Given the description of an element on the screen output the (x, y) to click on. 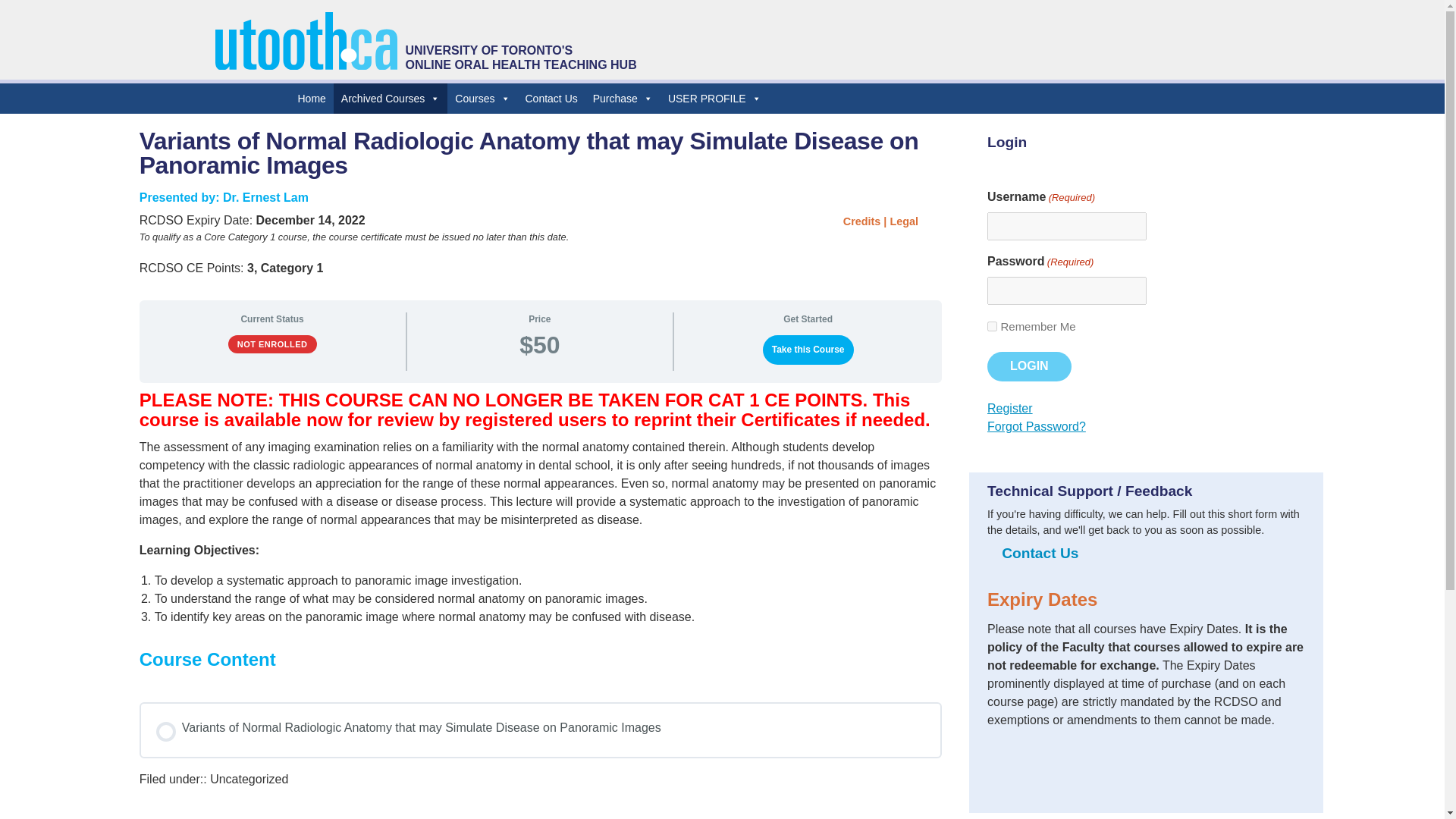
Archived Courses (390, 98)
1 (992, 326)
Forgot Password? (1036, 426)
contact us (1040, 553)
Register (1009, 408)
Home (311, 98)
utooth.ca (306, 65)
Login (1029, 366)
